Given the description of an element on the screen output the (x, y) to click on. 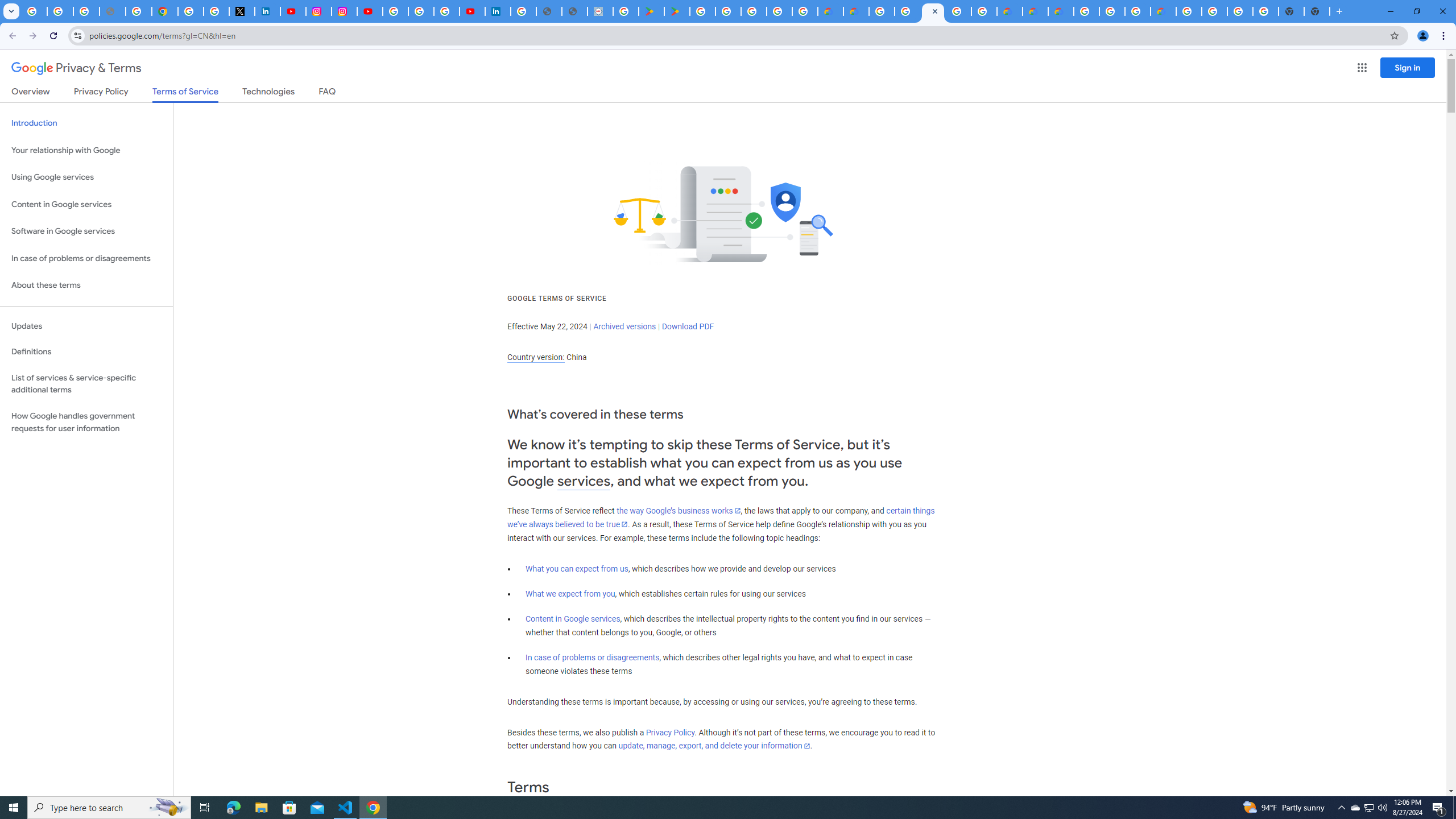
Google Cloud Platform (1086, 11)
PAW Patrol Rescue World - Apps on Google Play (676, 11)
Sign in - Google Accounts (190, 11)
